Given the description of an element on the screen output the (x, y) to click on. 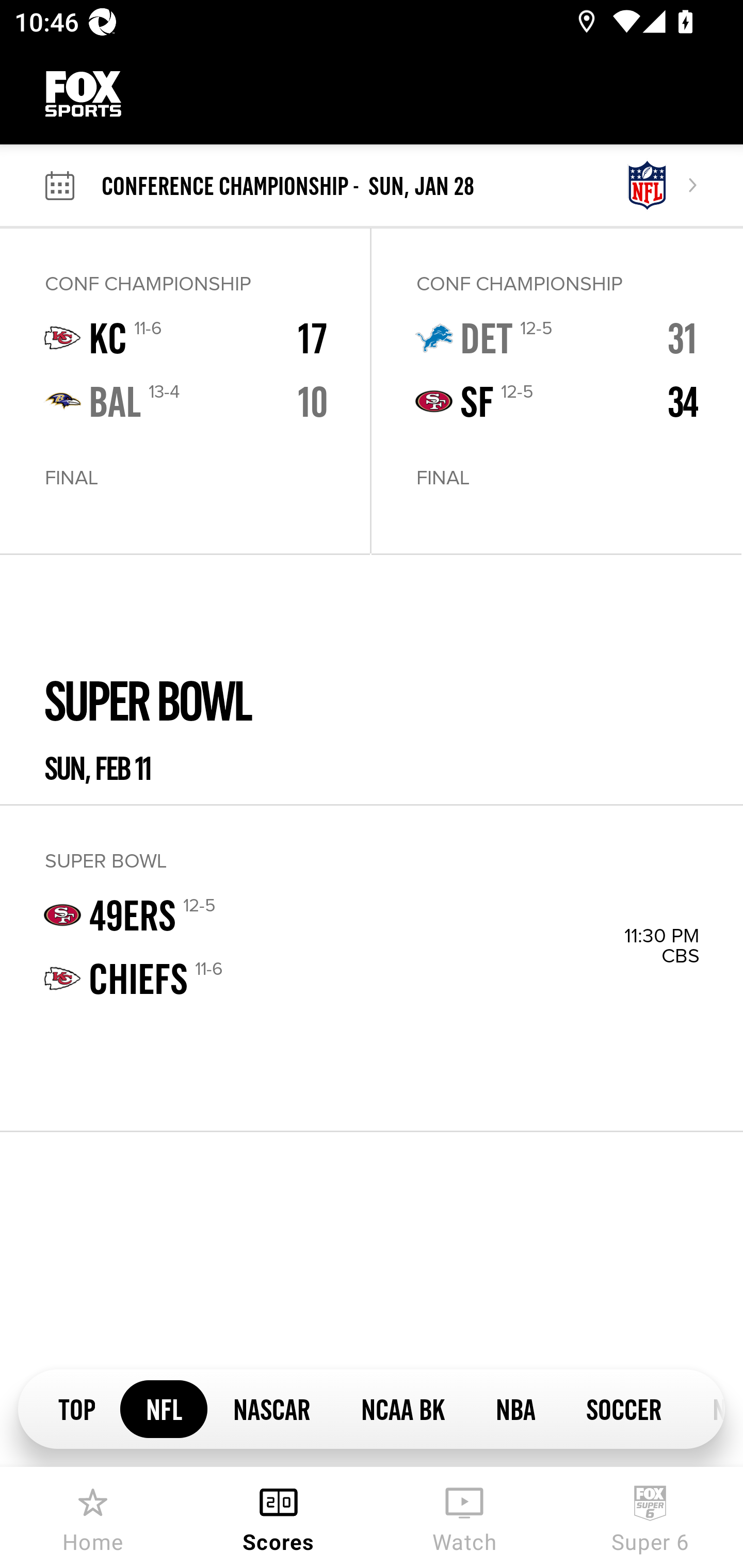
CONFERENCE CHAMPIONSHIP -  SUN, JAN 28 (360, 185)
CONF CHAMPIONSHIP KC 11-6 17 BAL 13-4 10 FINAL (185, 390)
CONF CHAMPIONSHIP DET 12-5 31 SF 12-5 34 FINAL (556, 390)
SUPER BOWL SUN, FEB 11 (371, 679)
SUPER BOWL 49ERS 12-5 11:30 PM CHIEFS 11-6 CBS (371, 967)
TOP (76, 1408)
NASCAR (271, 1408)
NCAA BK (402, 1408)
NBA (515, 1408)
SOCCER (623, 1408)
Home (92, 1517)
Watch (464, 1517)
Super 6 (650, 1517)
